Given the description of an element on the screen output the (x, y) to click on. 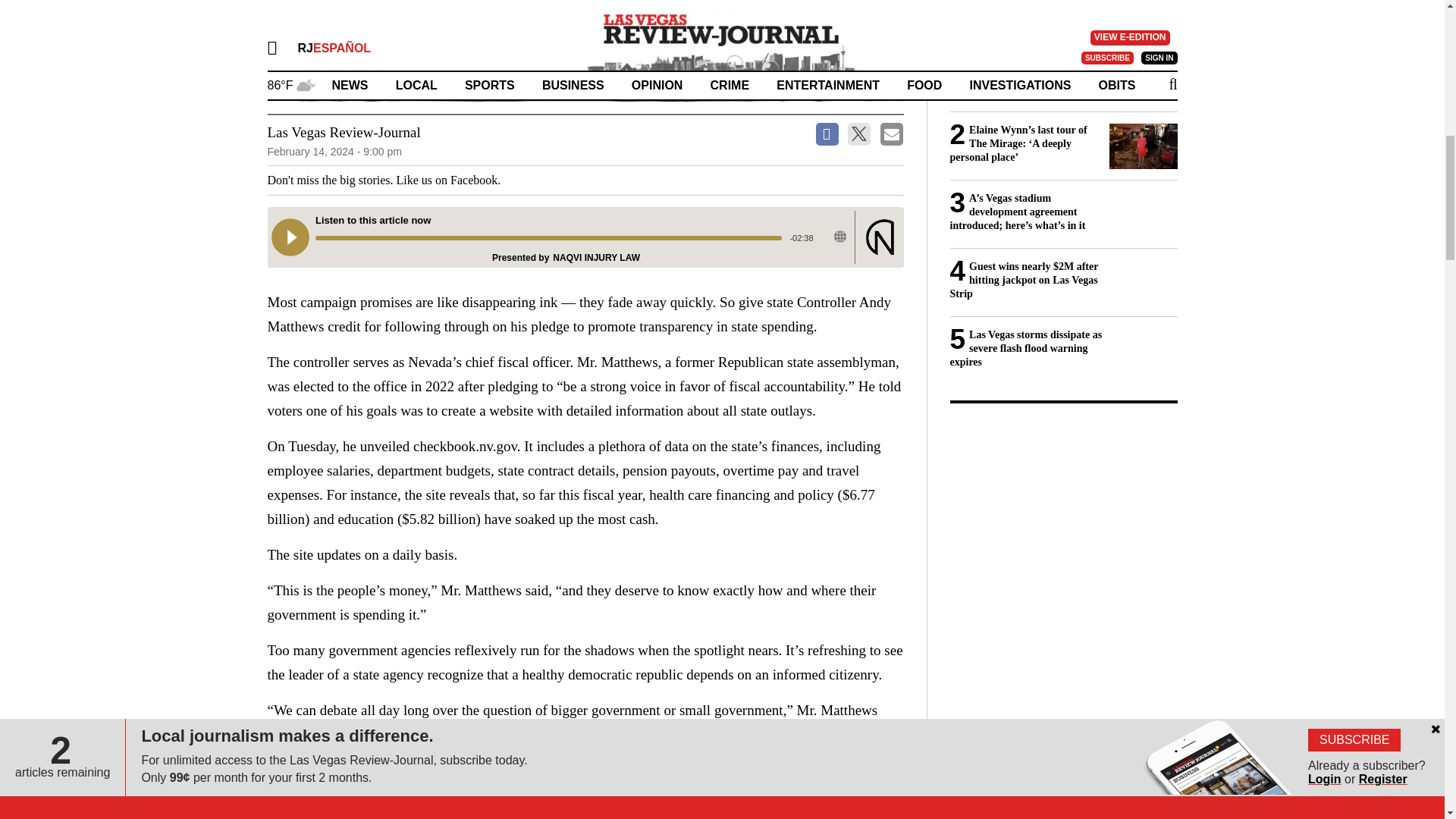
facebook like widget (557, 179)
Trinity Audio Player (584, 237)
